Given the description of an element on the screen output the (x, y) to click on. 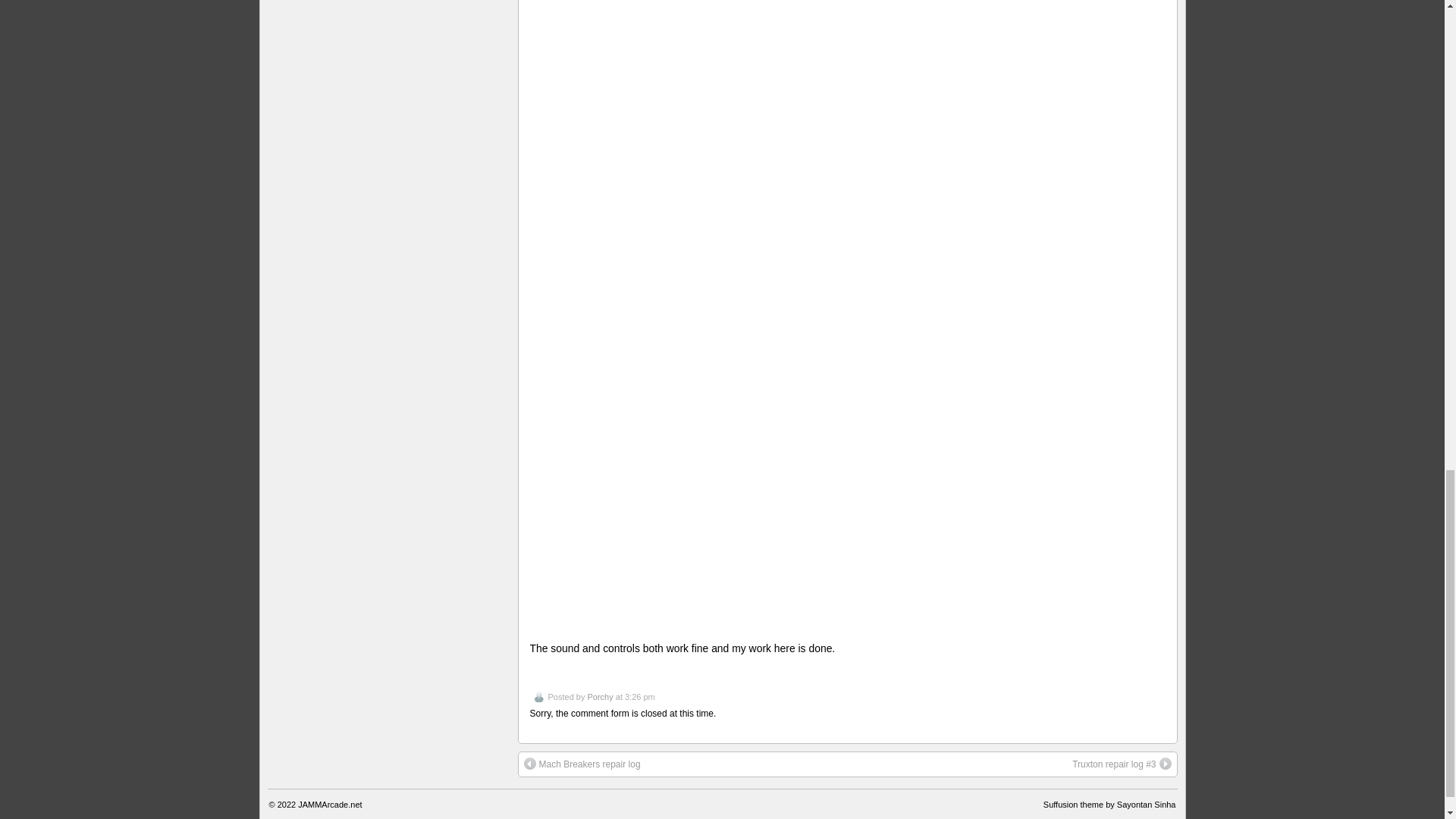
Porchy (599, 696)
Suffusion theme by Sayontan Sinha (1109, 804)
  Mach Breakers repair log (581, 764)
JAMMArcade.net (329, 804)
